Given the description of an element on the screen output the (x, y) to click on. 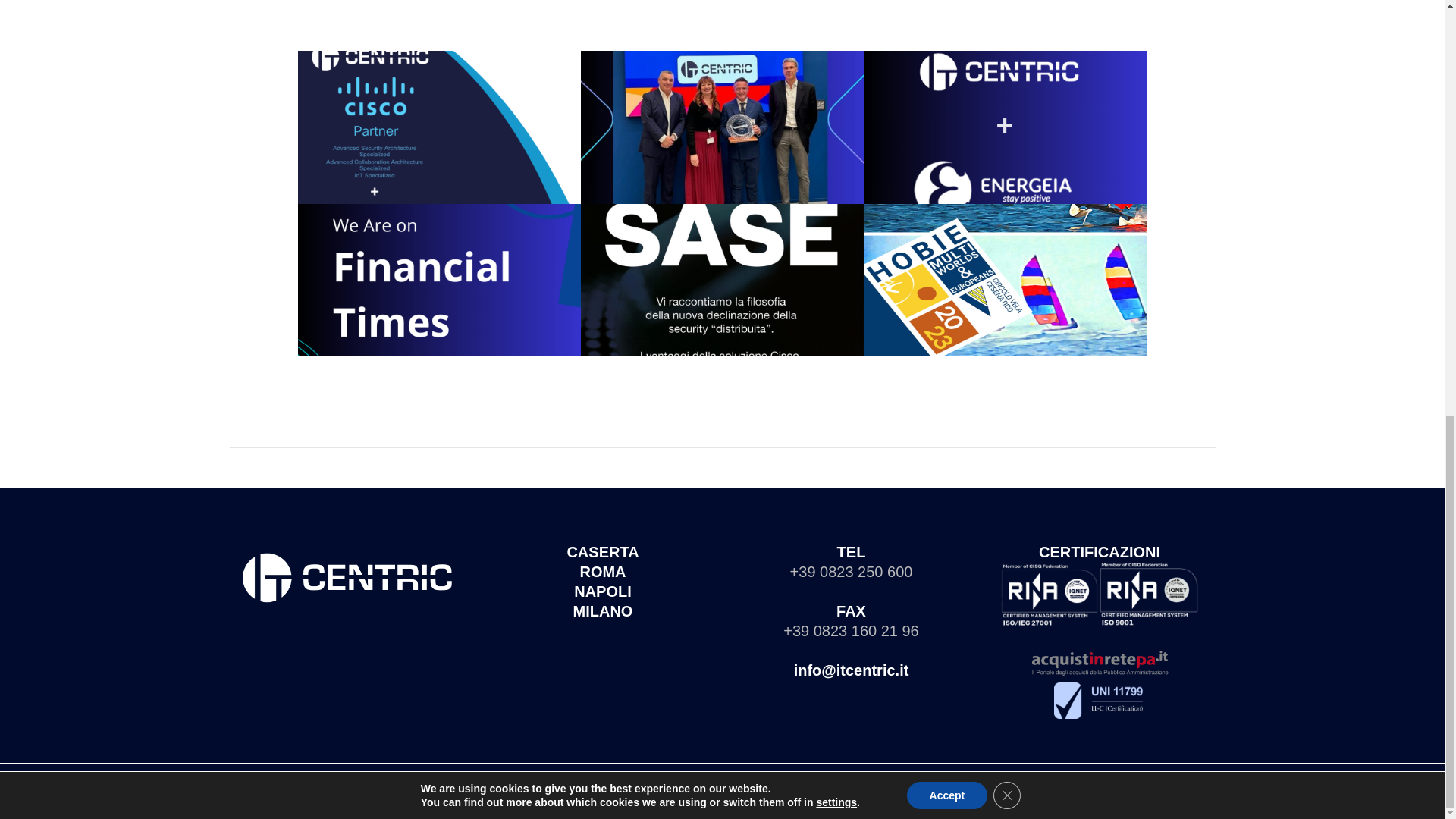
IT CENTRIC SPA - P.IVA IT04031090618 (651, 782)
Privacy Policy (684, 799)
SODO CREATIVE STUDIO (884, 782)
Cookie Policy (760, 799)
